Given the description of an element on the screen output the (x, y) to click on. 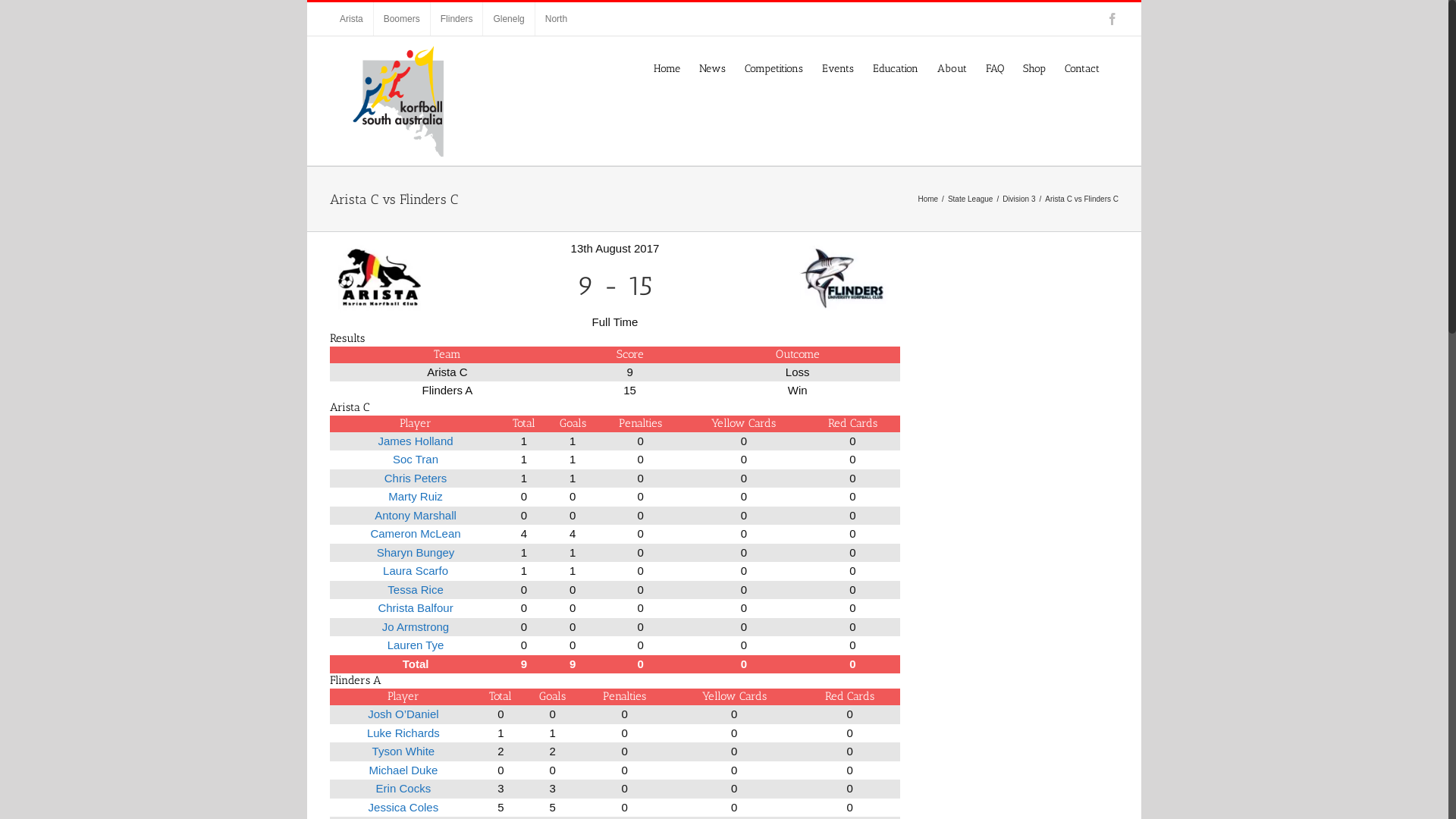
Jo Armstrong Element type: text (415, 626)
Home Element type: text (927, 198)
Flinders A Element type: hover (797, 278)
Laura Scarfo Element type: text (415, 570)
Flinders Element type: text (456, 18)
Division 3 Element type: text (1018, 198)
State League Element type: text (970, 198)
Education Element type: text (895, 67)
Sharyn Bungey Element type: text (415, 552)
Home Element type: text (666, 67)
Contact Element type: text (1081, 67)
Shop Element type: text (1033, 67)
Tyson White Element type: text (403, 750)
Michael Duke Element type: text (402, 769)
Soc Tran Element type: text (415, 458)
Arista C Element type: hover (432, 278)
Chris Peters Element type: text (415, 477)
Glenelg Element type: text (508, 18)
News Element type: text (712, 67)
Antony Marshall Element type: text (415, 514)
Jessica Coles Element type: text (403, 806)
North Element type: text (556, 18)
Facebook Element type: text (1112, 18)
Marty Ruiz Element type: text (415, 495)
Christa Balfour Element type: text (414, 607)
About Element type: text (951, 67)
Lauren Tye Element type: text (415, 644)
Arista Element type: text (351, 18)
Luke Richards Element type: text (403, 732)
Erin Cocks Element type: text (403, 787)
Competitions Element type: text (773, 67)
Events Element type: text (837, 67)
James Holland Element type: text (414, 440)
FAQ Element type: text (994, 67)
Boomers Element type: text (401, 18)
Tessa Rice Element type: text (414, 589)
Cameron McLean Element type: text (415, 533)
